Given the description of an element on the screen output the (x, y) to click on. 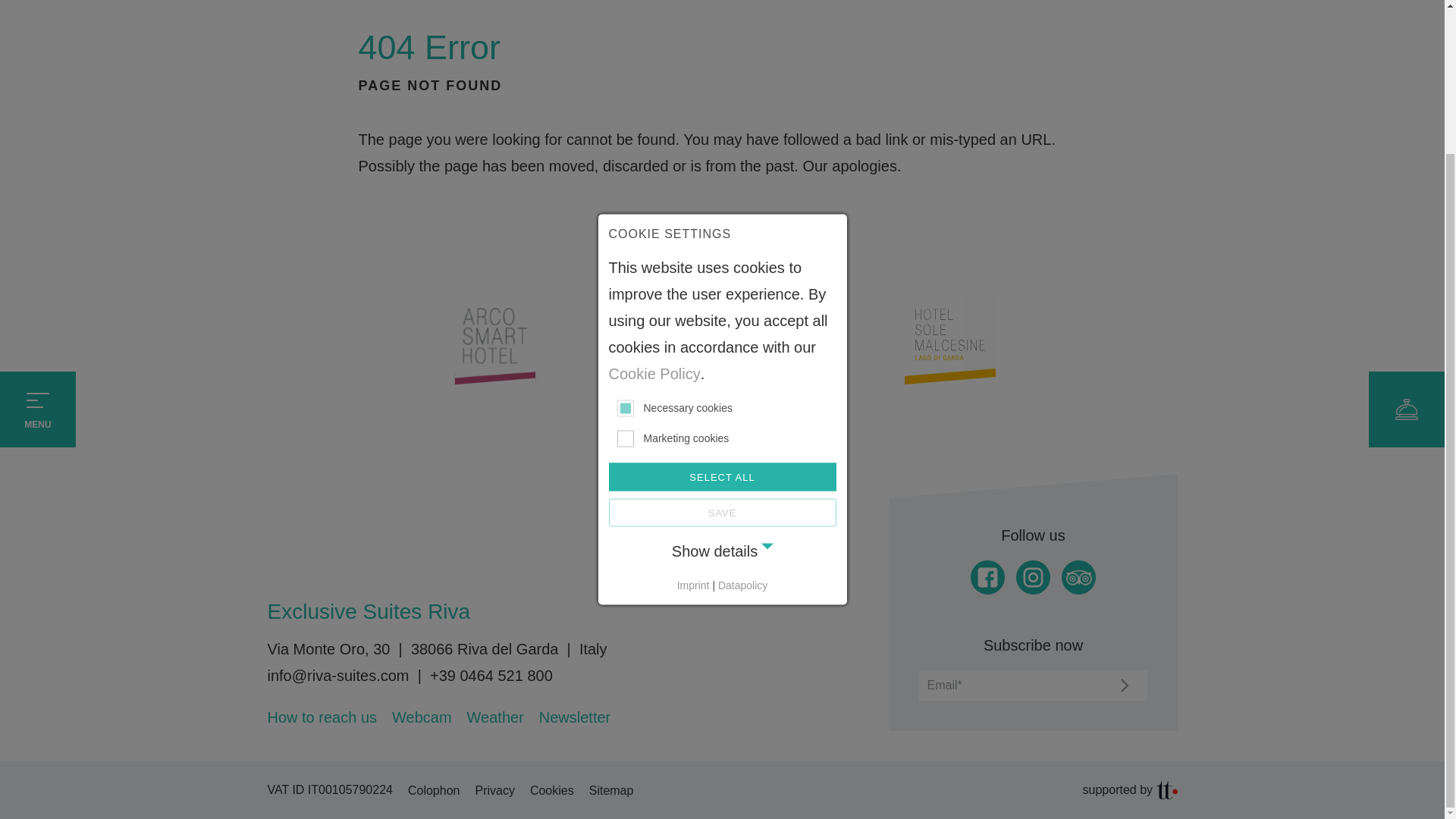
Webcam (421, 717)
How to reach us (321, 717)
Weather (495, 717)
Newsletter (574, 717)
